Given the description of an element on the screen output the (x, y) to click on. 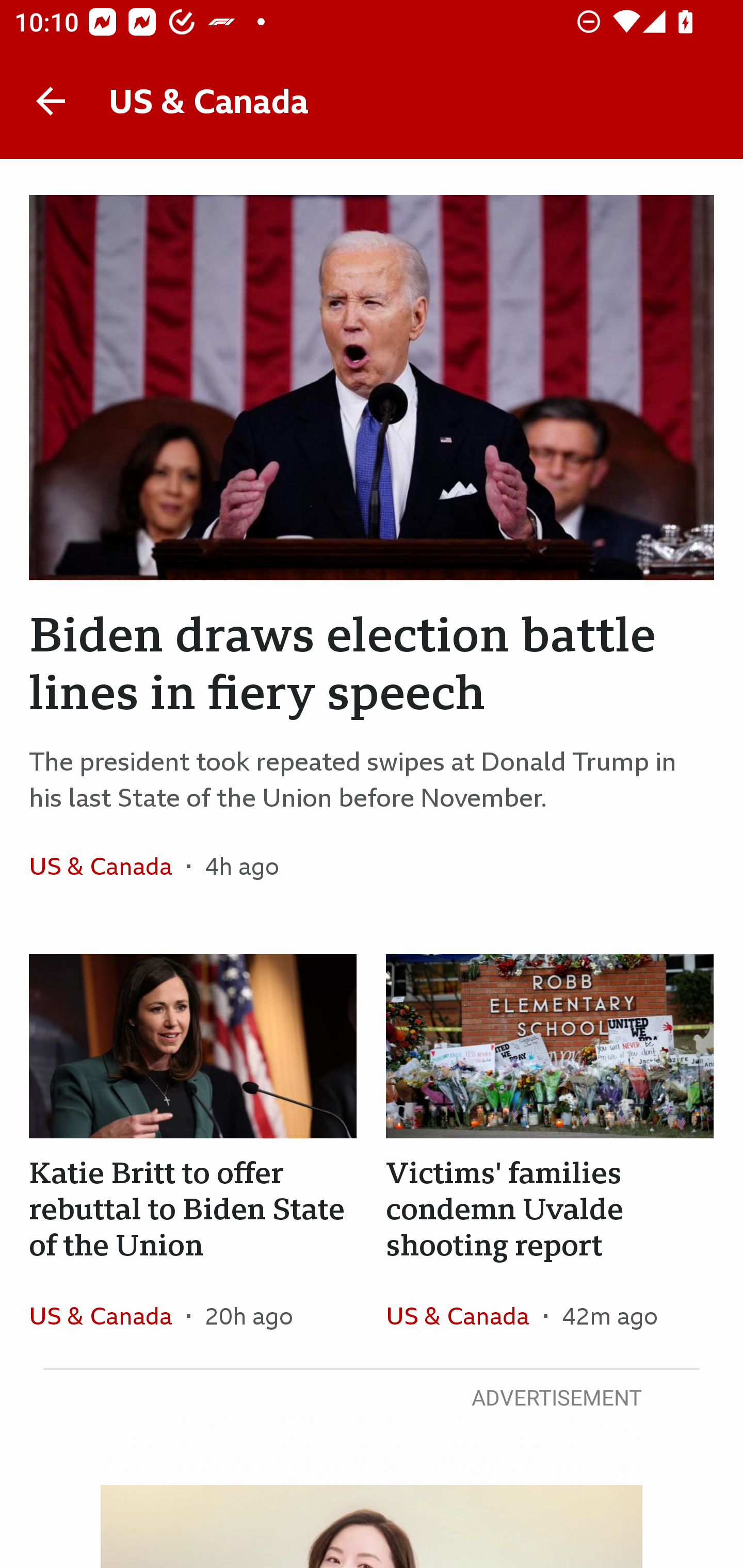
Back (50, 101)
US & Canada In the section US & Canada (107, 865)
US & Canada In the section US & Canada (107, 1315)
US & Canada In the section US & Canada (464, 1315)
